Given the description of an element on the screen output the (x, y) to click on. 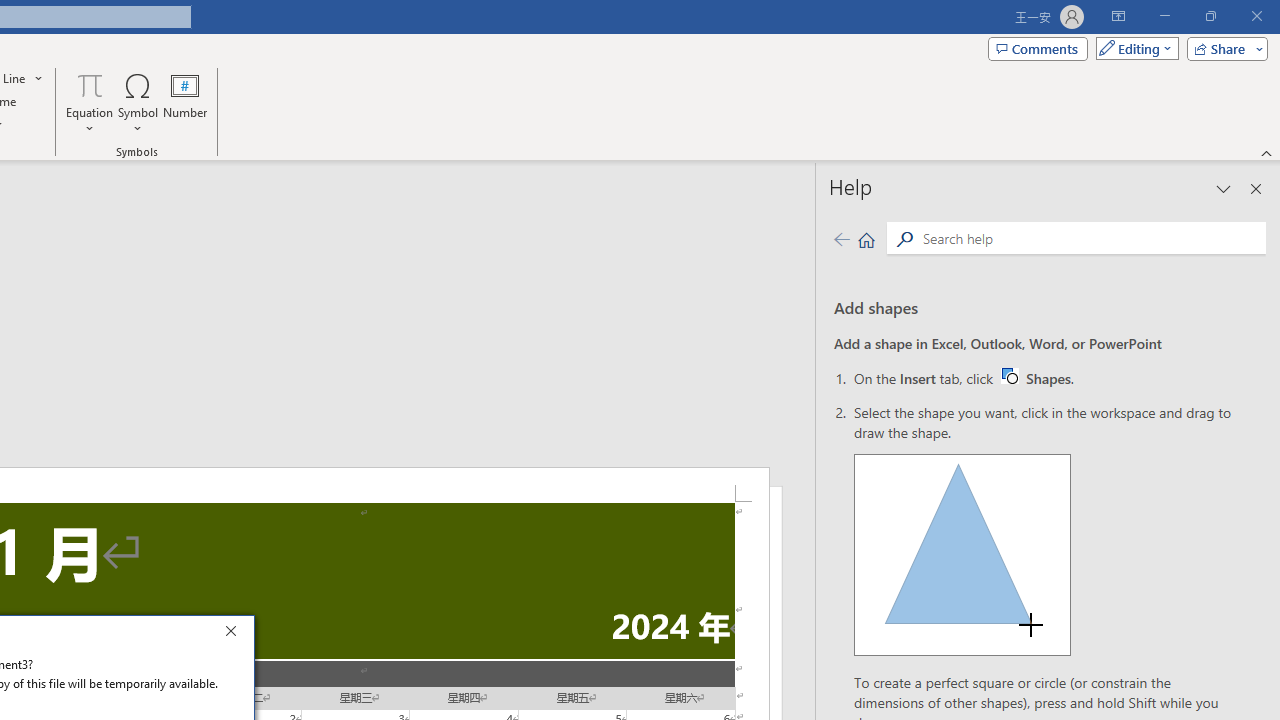
Word W32 Shapes button icon (1009, 375)
Previous page (841, 238)
Search (1089, 237)
Task Pane Options (1224, 188)
Minimize (1164, 16)
Symbol (138, 102)
Restore Down (1210, 16)
Close (236, 633)
Mode (1133, 47)
Ribbon Display Options (1118, 16)
Home (866, 238)
Search (904, 238)
Comments (1038, 48)
